Given the description of an element on the screen output the (x, y) to click on. 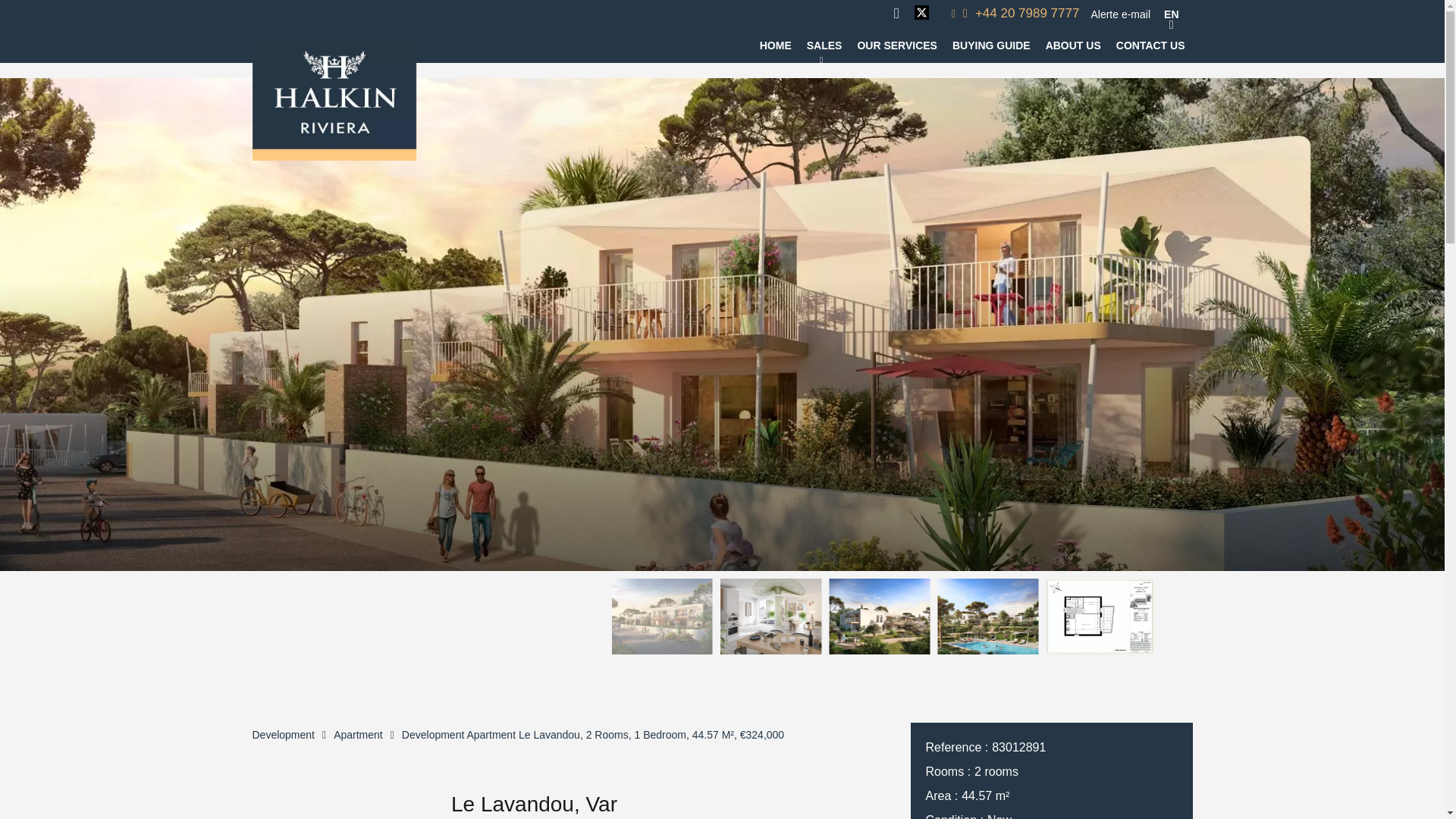
En (1171, 13)
ABOUT US (1072, 45)
BUYING GUIDE (991, 45)
Apartment (357, 734)
OUR SERVICES (897, 45)
CONTACT US (1150, 45)
Development (282, 734)
Alerte e-mail (1120, 13)
HOME (776, 45)
SALES (824, 45)
